Given the description of an element on the screen output the (x, y) to click on. 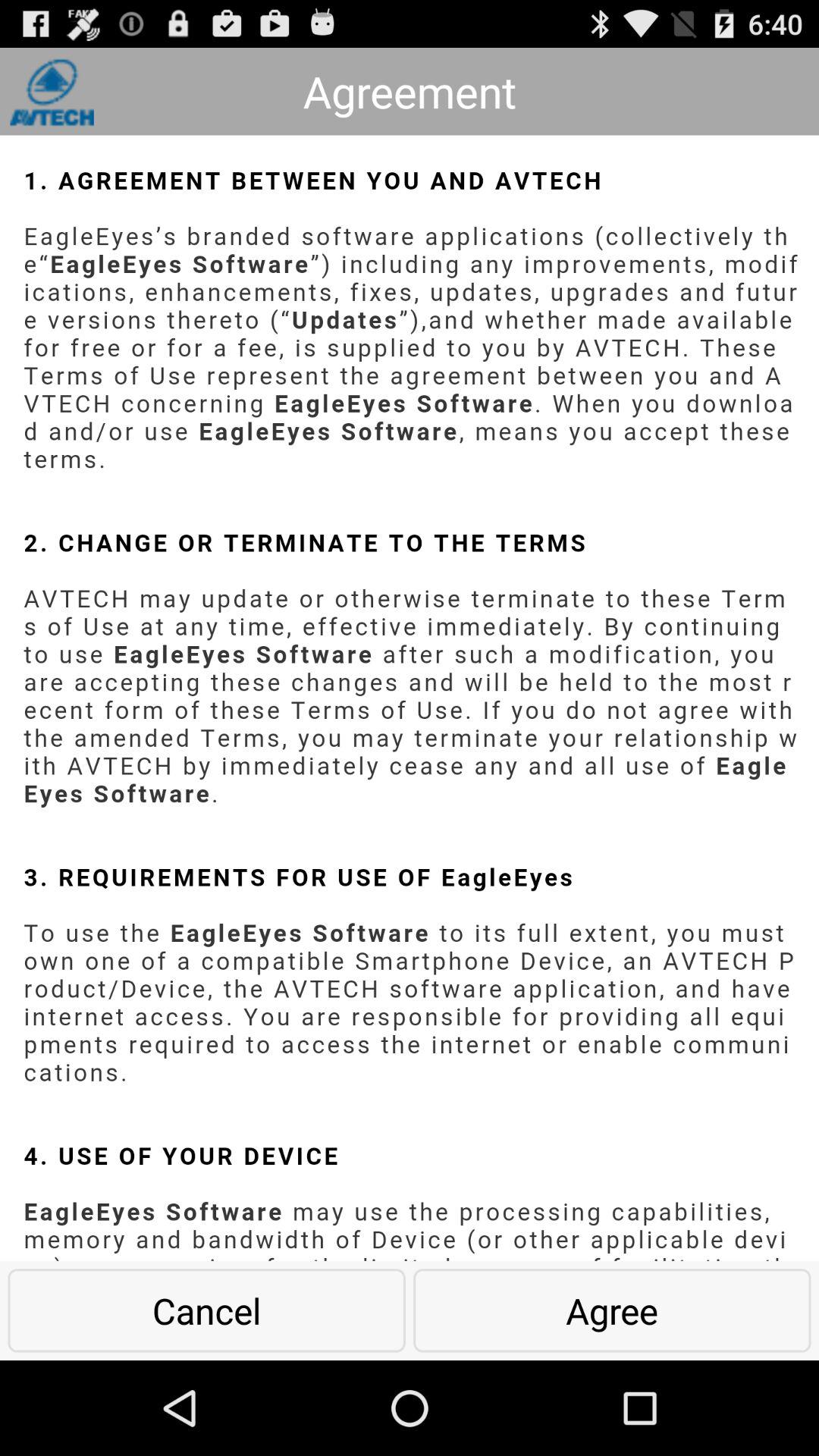
scroll down to read agreement (409, 697)
